Given the description of an element on the screen output the (x, y) to click on. 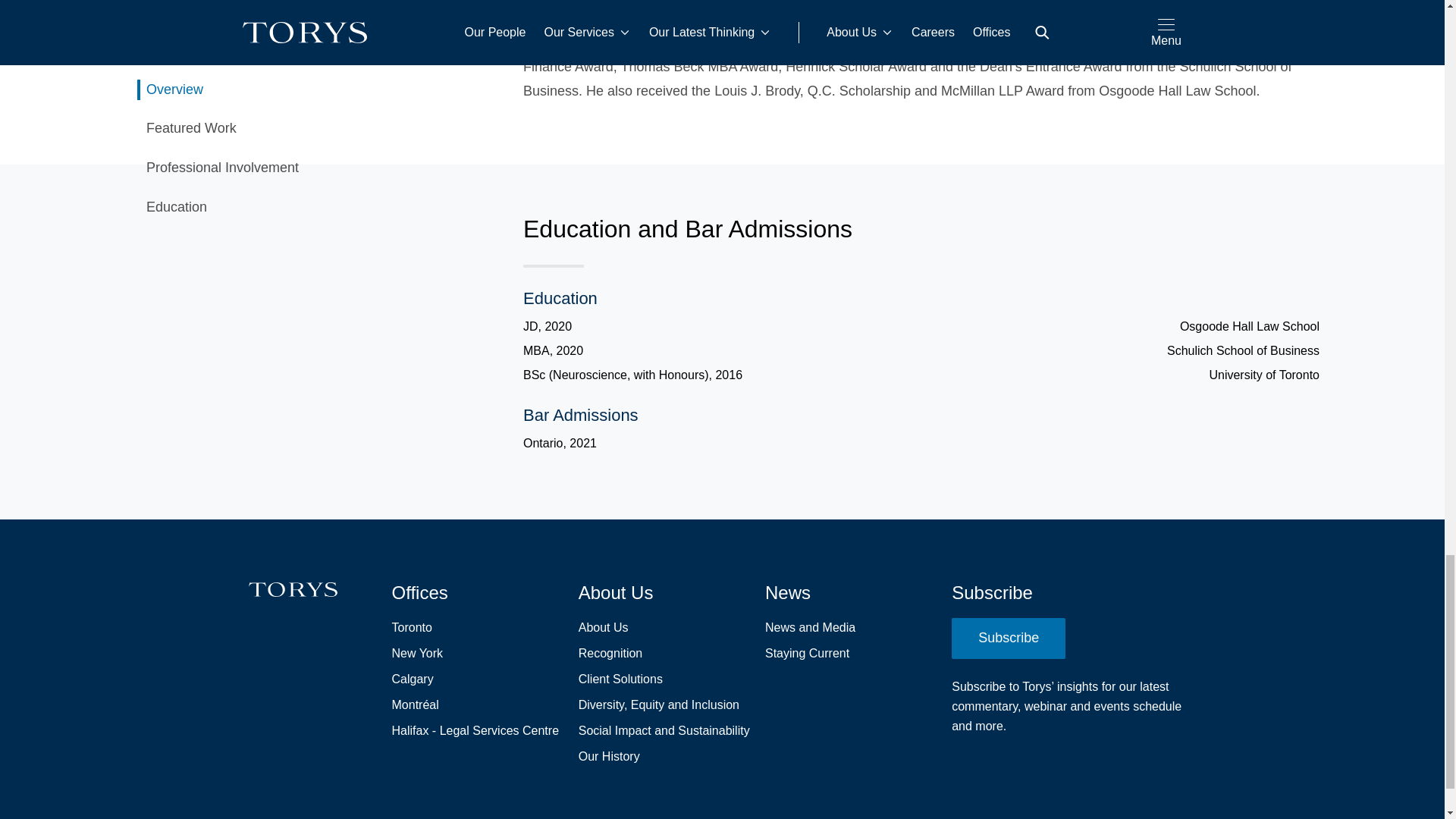
Montreal Office Page (414, 704)
Calgary Office Page (411, 679)
Diversity and Inclusion Page (658, 704)
News and Media Landing Page (810, 628)
Client Solutions Page (620, 679)
Social Impact and Sustainability Page (663, 731)
Recognition Page (610, 653)
New York Office Page (416, 653)
Our History Page (609, 756)
Staying Current Landing Page (806, 653)
